Given the description of an element on the screen output the (x, y) to click on. 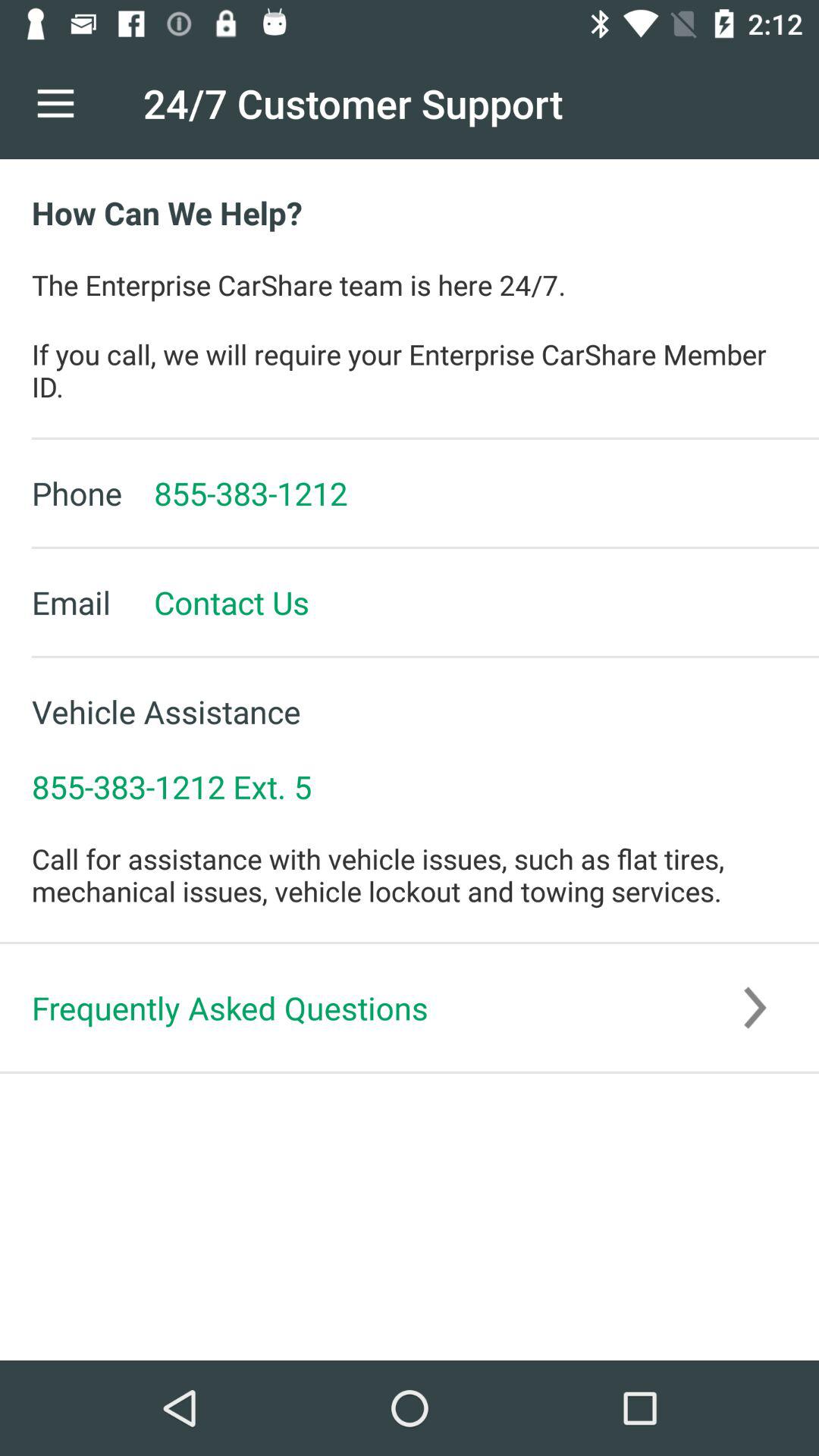
launch icon to the left of the 24 7 customer (55, 103)
